Given the description of an element on the screen output the (x, y) to click on. 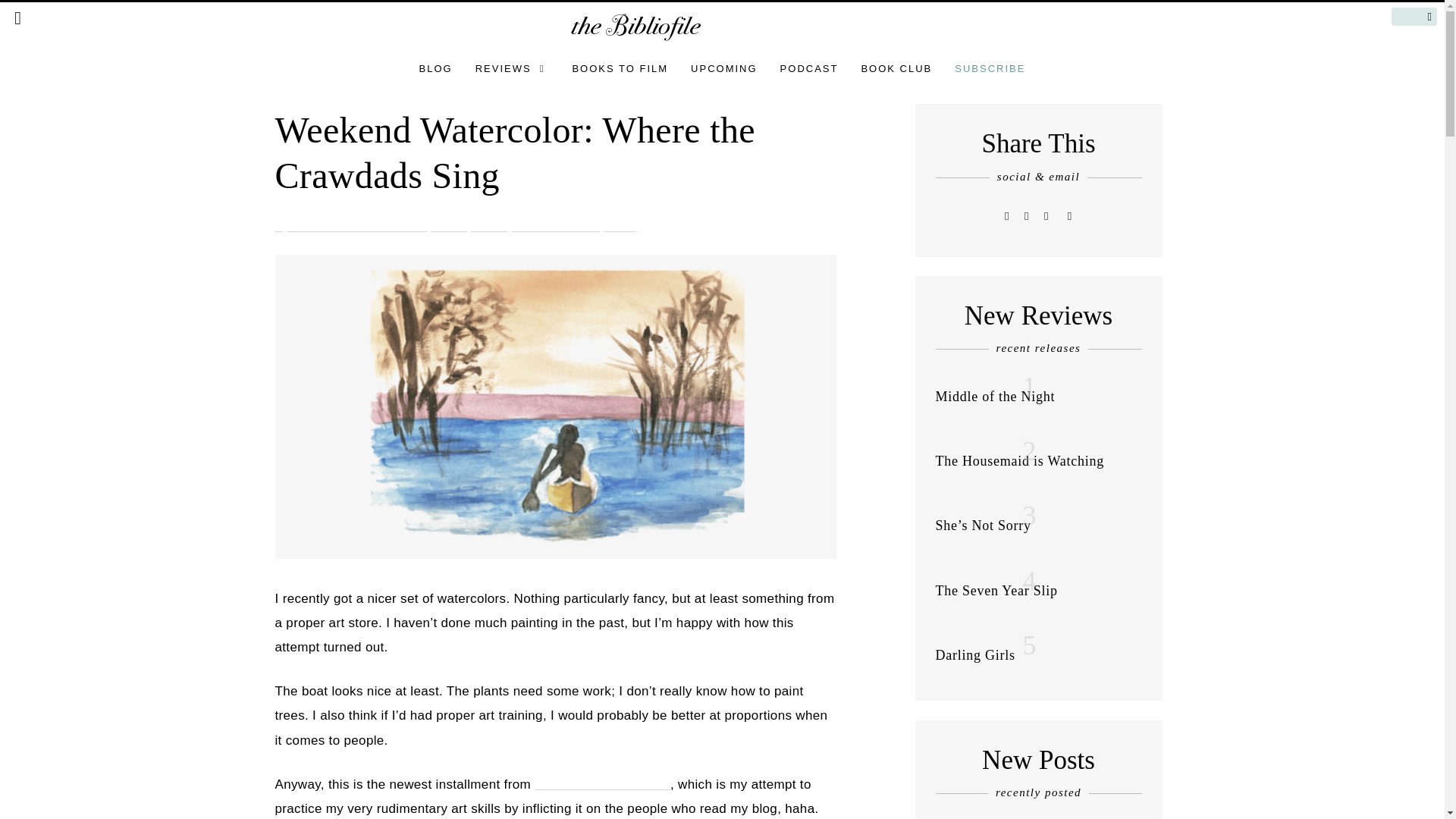
Tweet This (1006, 215)
Middle of the Night (995, 395)
Weekend Watercolor: Where the Crawdads Sing (514, 152)
BOOKS TO FILM (620, 68)
REVIEWS (513, 68)
SUBSCRIBE (990, 68)
BLOG (435, 68)
PODCAST (809, 68)
UPCOMING (723, 68)
BOOK CLUB (895, 68)
